Given the description of an element on the screen output the (x, y) to click on. 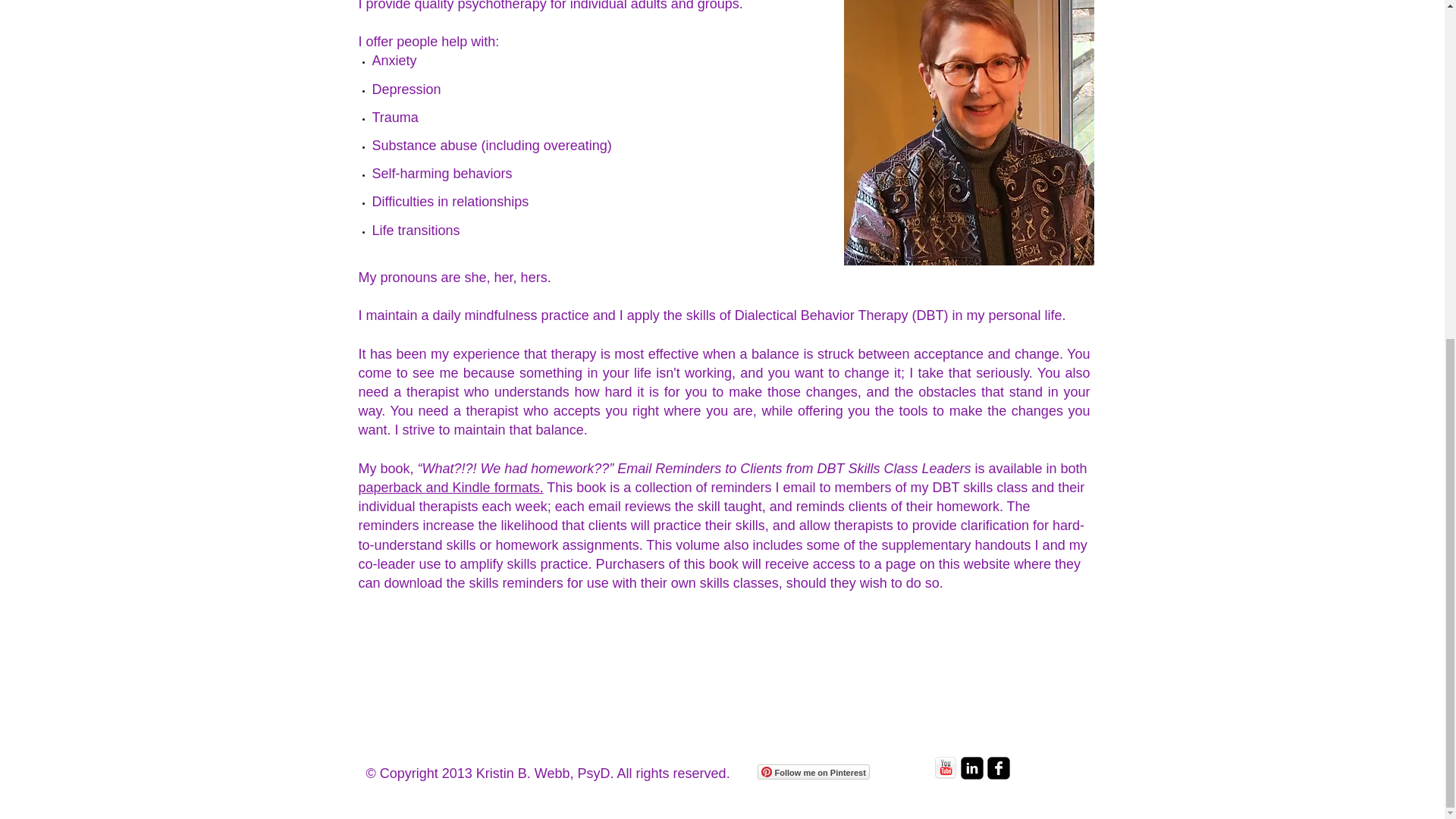
Follow me on Pinterest (813, 771)
Follow me on Pinterest (813, 771)
paperback and Kindle formats. (450, 487)
Facebook Like (898, 769)
